Given the description of an element on the screen output the (x, y) to click on. 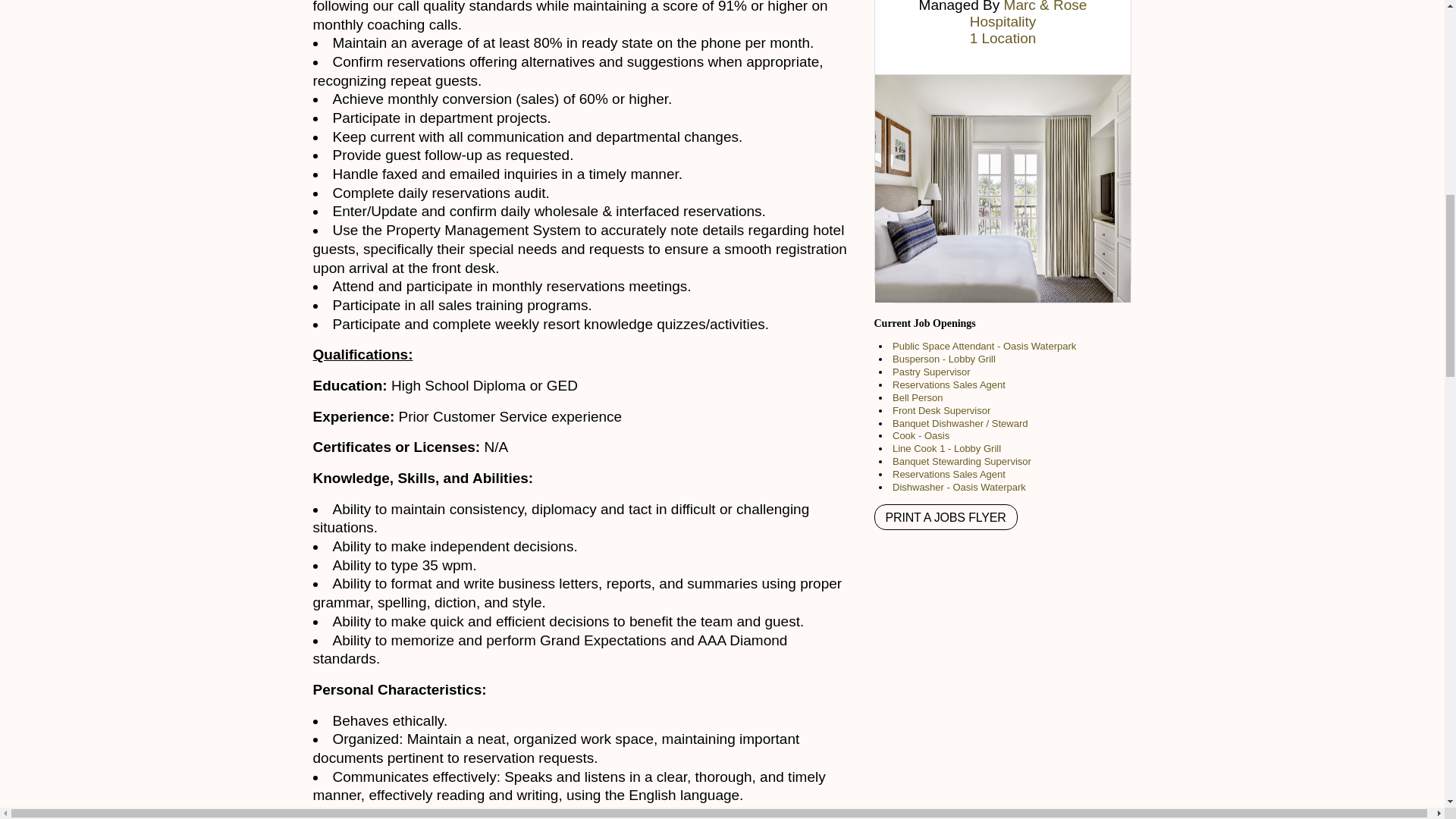
Banquet Stewarding Supervisor (961, 460)
Reservations Sales Agent (949, 473)
PRINT A JOBS FLYER (944, 516)
Busperson - Lobby Grill (943, 358)
Reservations Sales Agent (949, 384)
Cook - Oasis (920, 435)
1 Location (1002, 37)
Front Desk Supervisor (941, 410)
Pastry Supervisor (931, 371)
Dishwasher - Oasis Waterpark (959, 487)
Bell Person (917, 397)
Line Cook 1 - Lobby Grill (946, 448)
Public Space Attendant - Oasis Waterpark (983, 346)
